Given the description of an element on the screen output the (x, y) to click on. 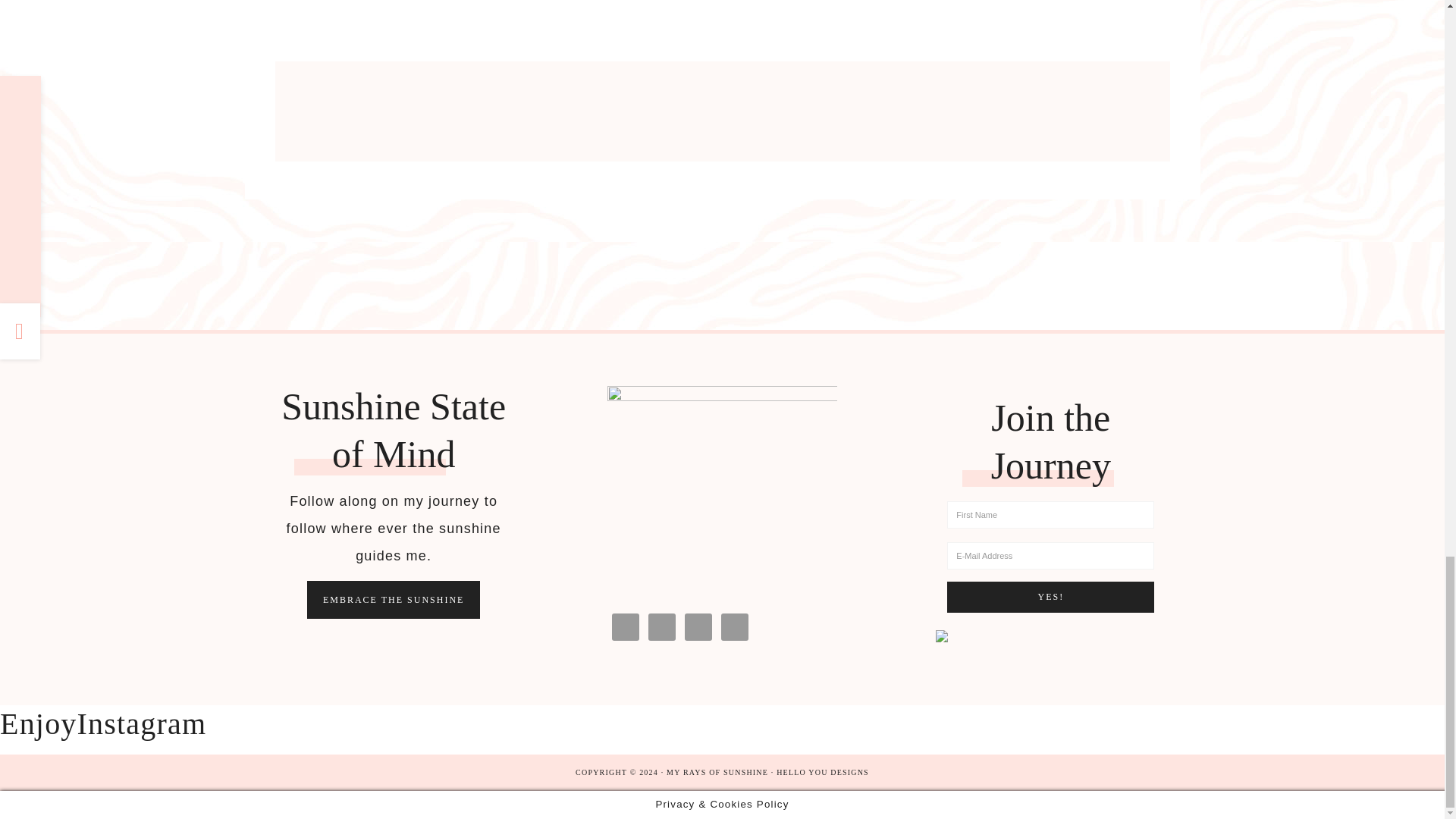
EMBRACE THE SUNSHINE (393, 599)
Yes! (1050, 596)
